Given the description of an element on the screen output the (x, y) to click on. 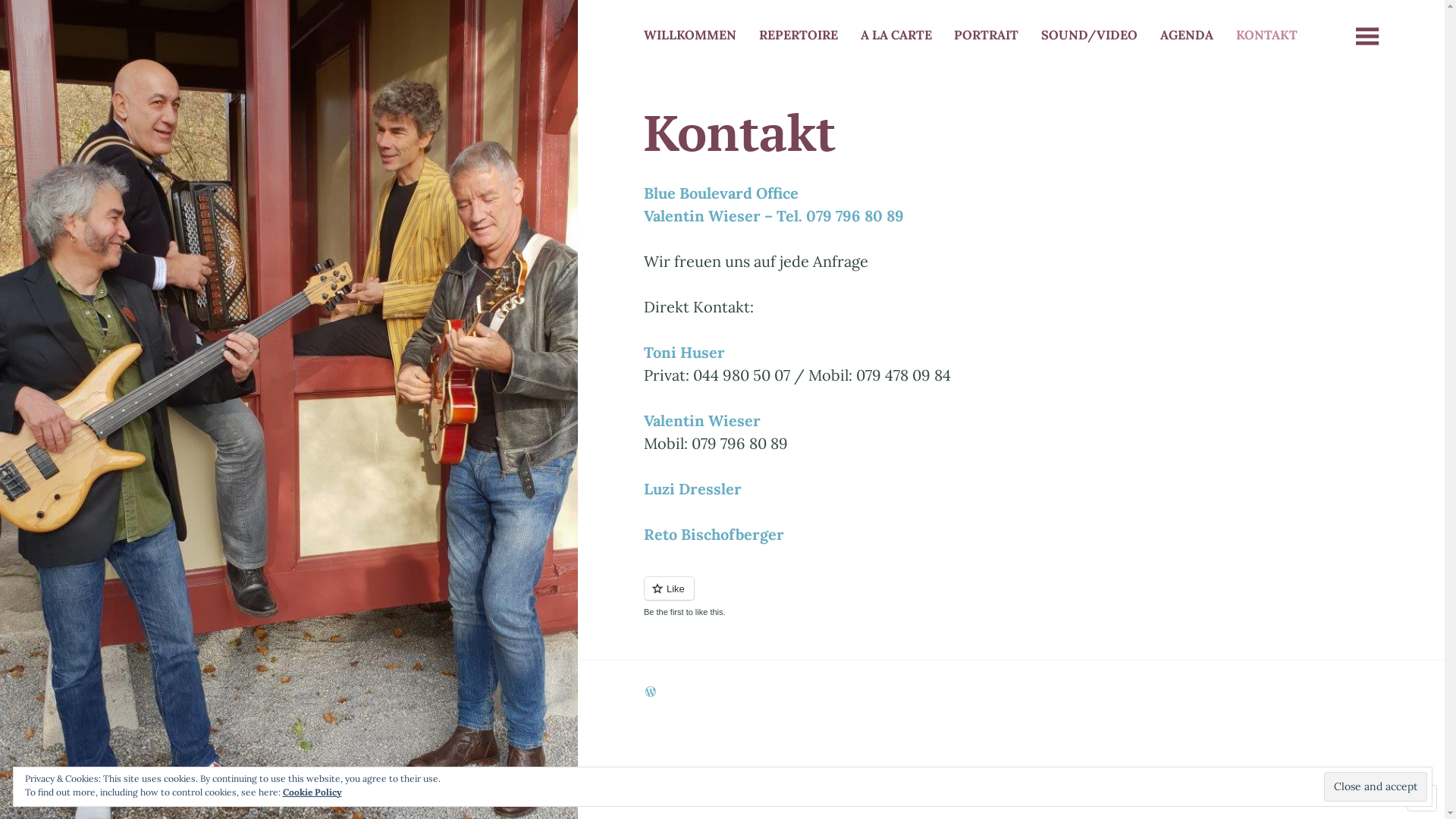
Reto Bischofberger Element type: text (713, 533)
Create a website or blog at WordPress.com Element type: text (650, 692)
Toni Huser Element type: text (683, 351)
Blue Boulevard Office Element type: text (720, 192)
Close and accept Element type: text (1375, 786)
A LA CARTE Element type: text (895, 36)
WILLKOMMEN Element type: text (689, 36)
Cookie Policy Element type: text (311, 791)
PORTRAIT Element type: text (985, 36)
REPERTOIRE Element type: text (798, 36)
SOUND/VIDEO Element type: text (1089, 36)
Like or Reblog Element type: hover (1010, 597)
AGENDA Element type: text (1186, 36)
Luzi Dressler Element type: text (692, 488)
KONTAKT Element type: text (1266, 36)
Valentin Wieser Element type: text (701, 420)
